Given the description of an element on the screen output the (x, y) to click on. 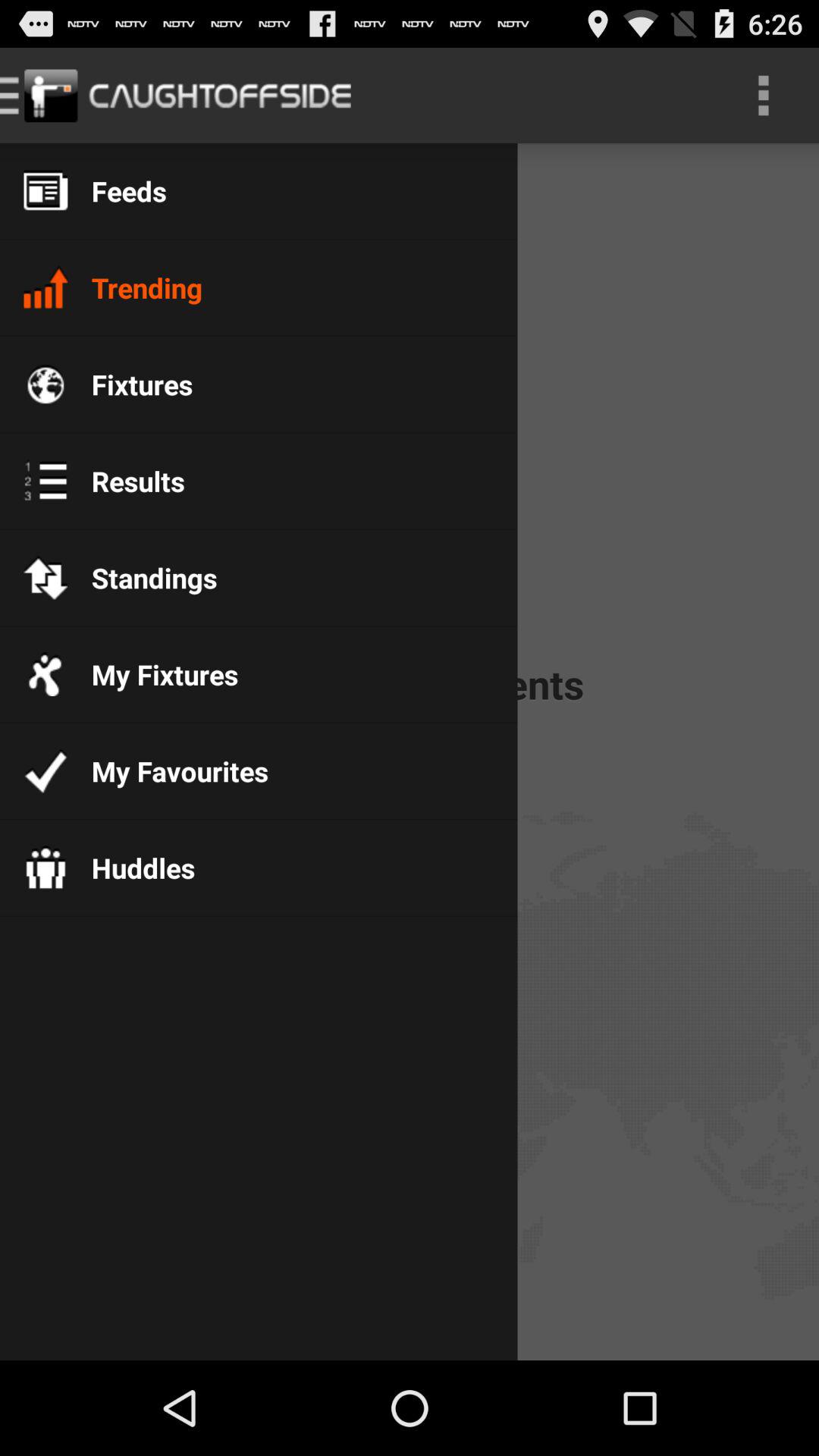
click icon below no trending events item (167, 770)
